Given the description of an element on the screen output the (x, y) to click on. 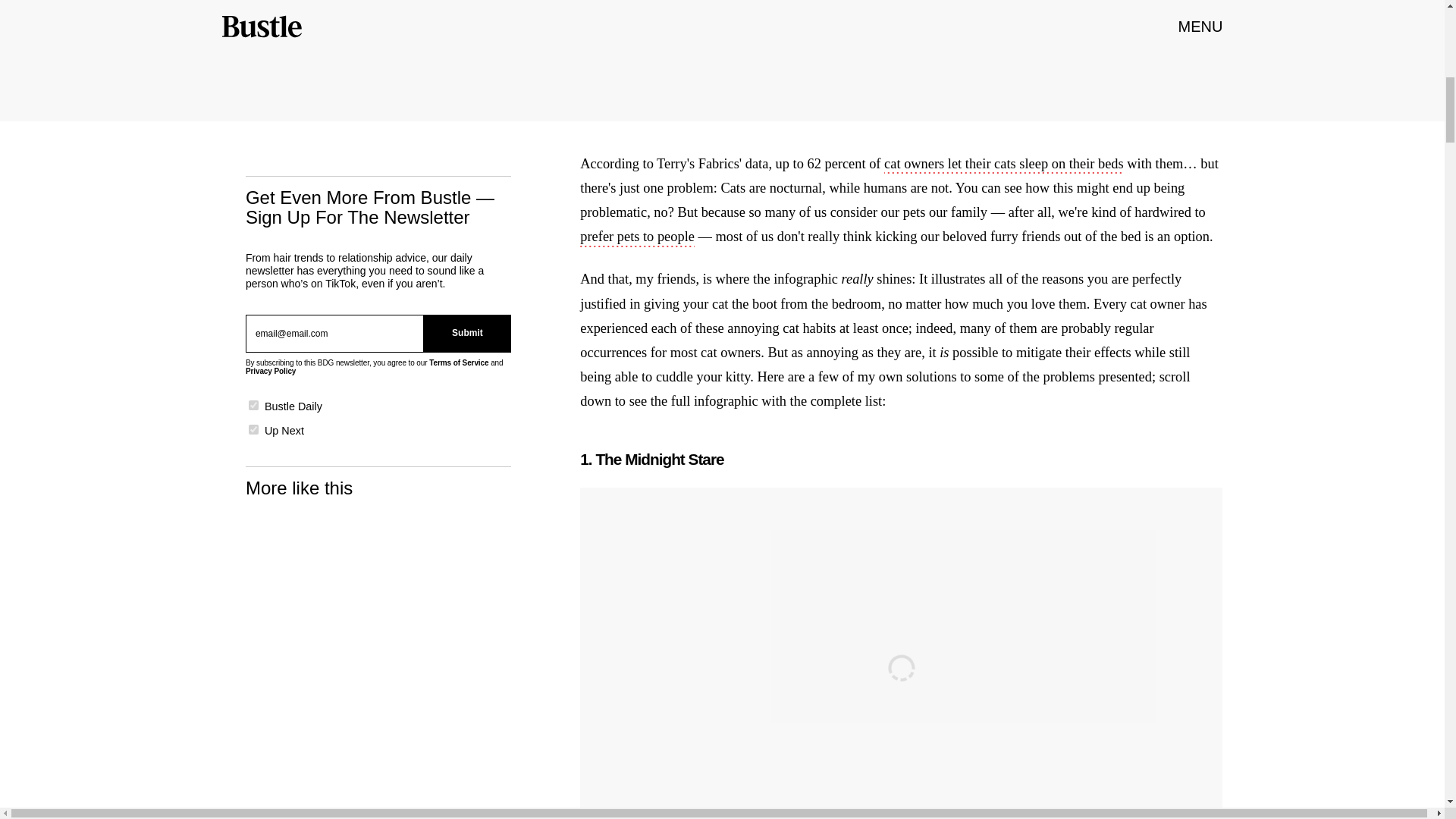
Submit (467, 333)
Privacy Policy (270, 370)
Terms of Service (458, 362)
cat owners let their cats sleep on their beds (1003, 165)
prefer pets to people (636, 238)
